Given the description of an element on the screen output the (x, y) to click on. 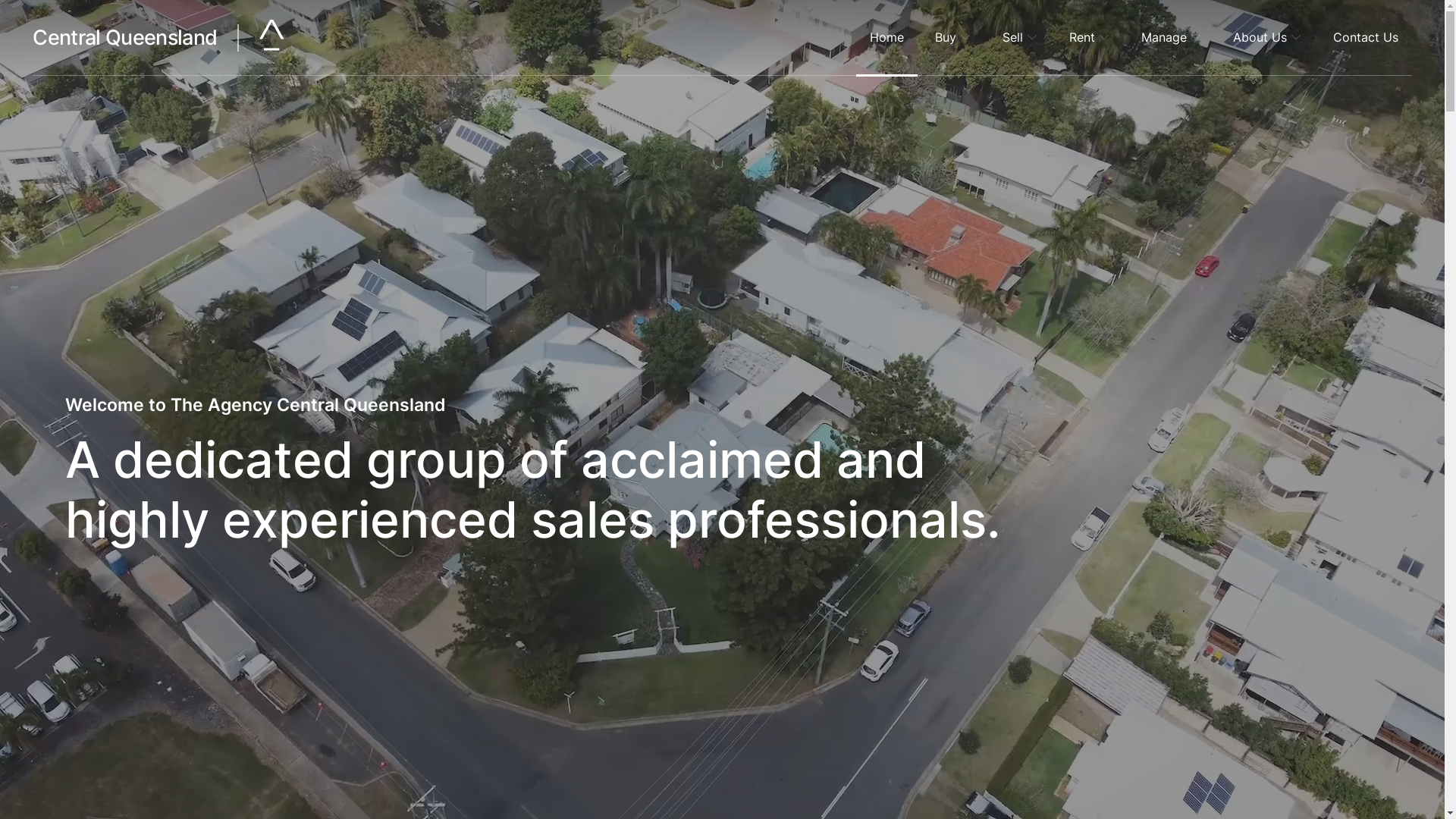
Sell Element type: text (1019, 37)
About Us Element type: text (1267, 37)
Rent Element type: text (1089, 37)
Home Element type: text (886, 37)
Contact Us Element type: text (1365, 37)
Buy Element type: text (953, 37)
Manage Element type: text (1171, 37)
